Given the description of an element on the screen output the (x, y) to click on. 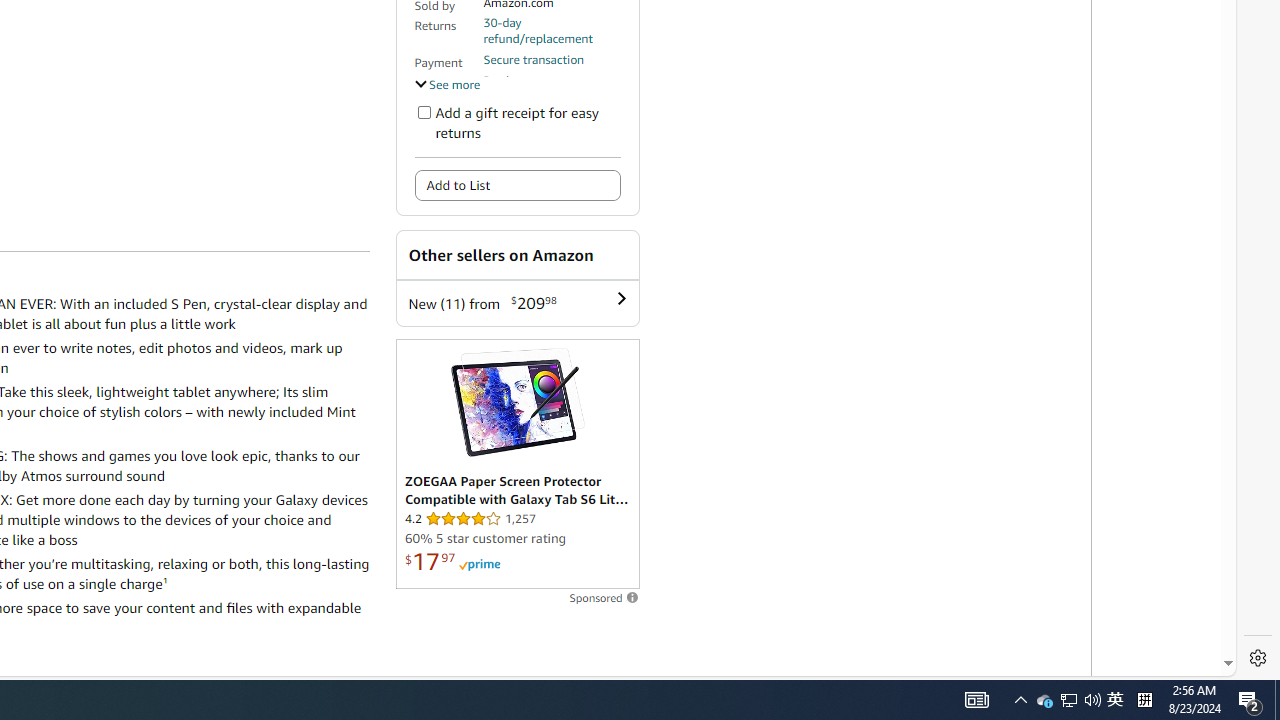
Sponsored ad (516, 463)
Prime (479, 564)
Add to List (516, 185)
Add a gift receipt for easy returns (424, 111)
30-day refund/replacement (551, 30)
Secure transaction (533, 59)
Product support included (551, 88)
